Given the description of an element on the screen output the (x, y) to click on. 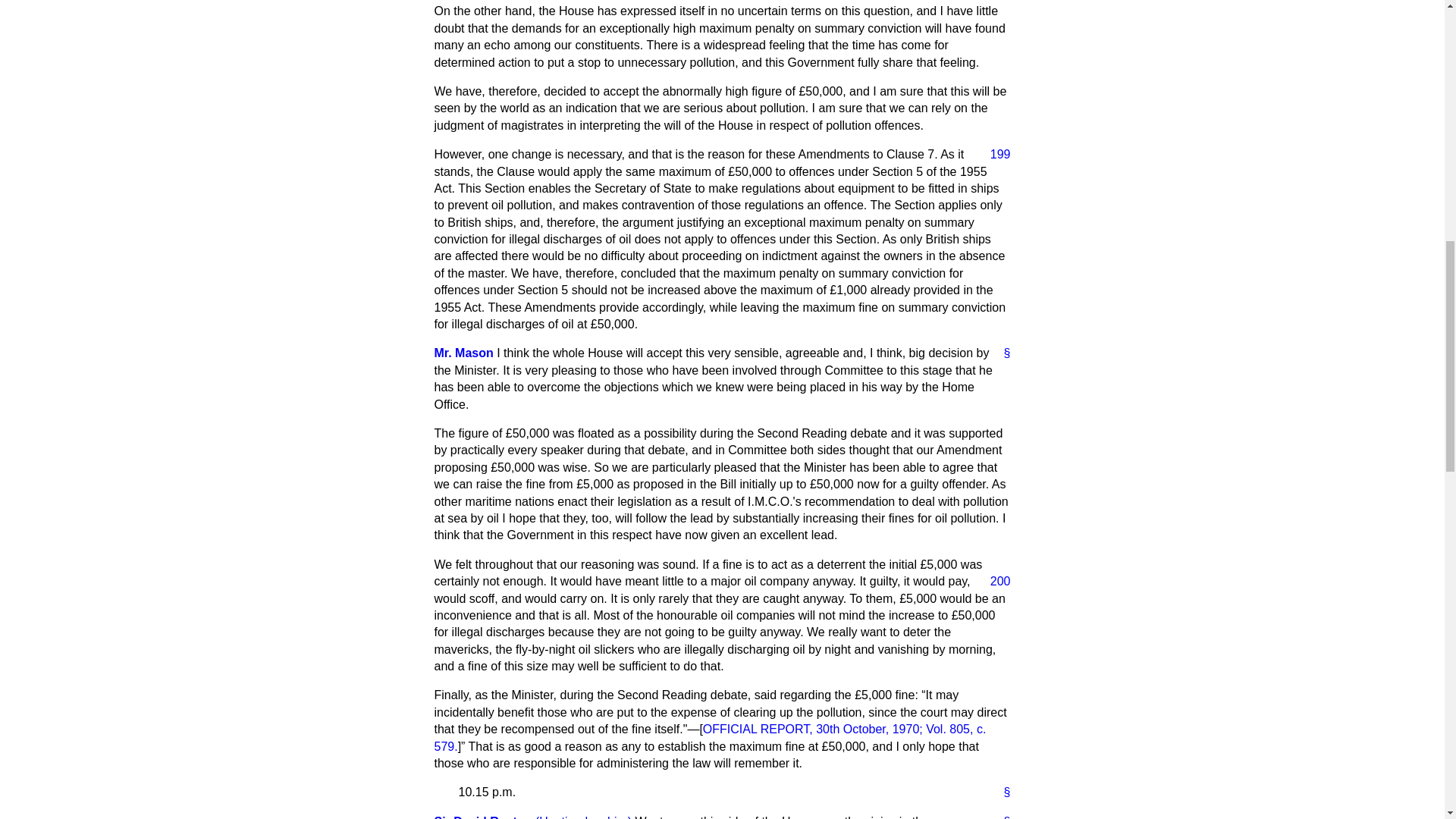
Huntingdonshire (583, 816)
Mr Roy Mason (463, 352)
Link to this contribution (1000, 791)
199 (994, 154)
Mr David Renton (482, 816)
Sir David Renton (482, 816)
Mr. Mason (463, 352)
Link to this speech by Mr Roy Mason (1000, 352)
200 (994, 581)
Link to this speech by Mr David Renton (1000, 816)
OFFICIAL REPORT, 30th October, 1970; Vol. 805, c. 579. (709, 737)
